Given the description of an element on the screen output the (x, y) to click on. 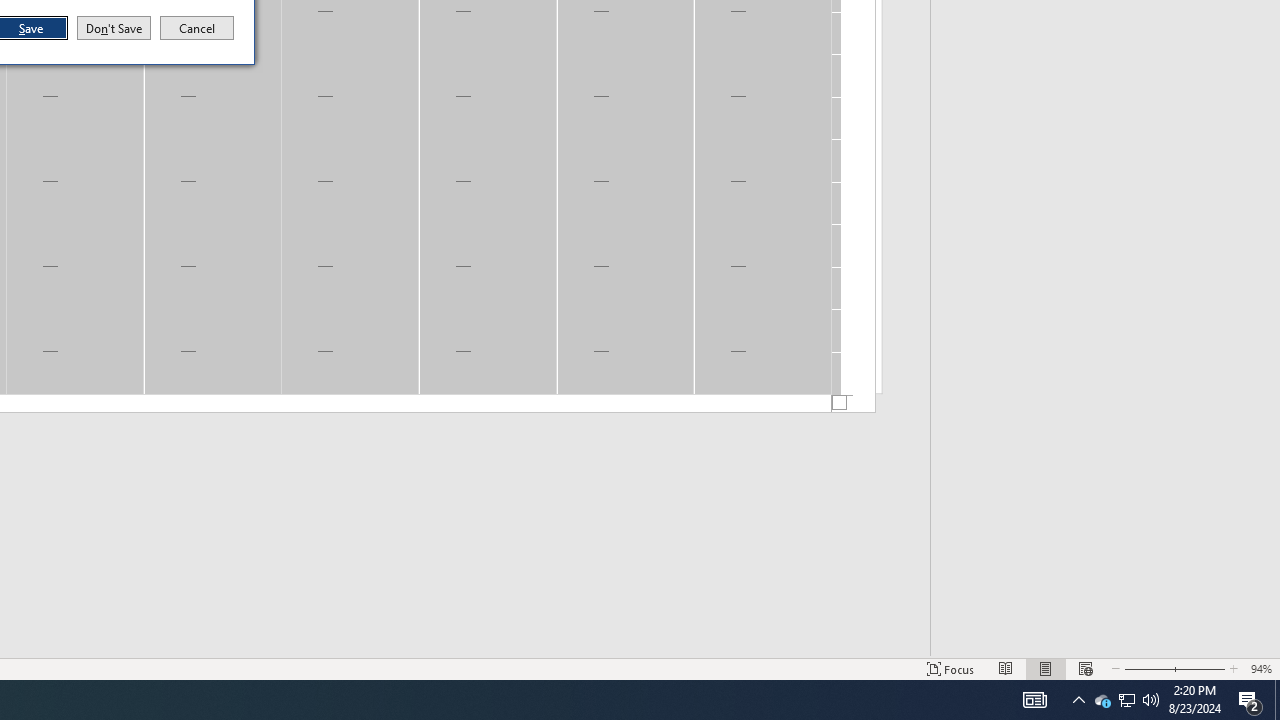
Cancel (197, 27)
Don't Save (113, 27)
